Given the description of an element on the screen output the (x, y) to click on. 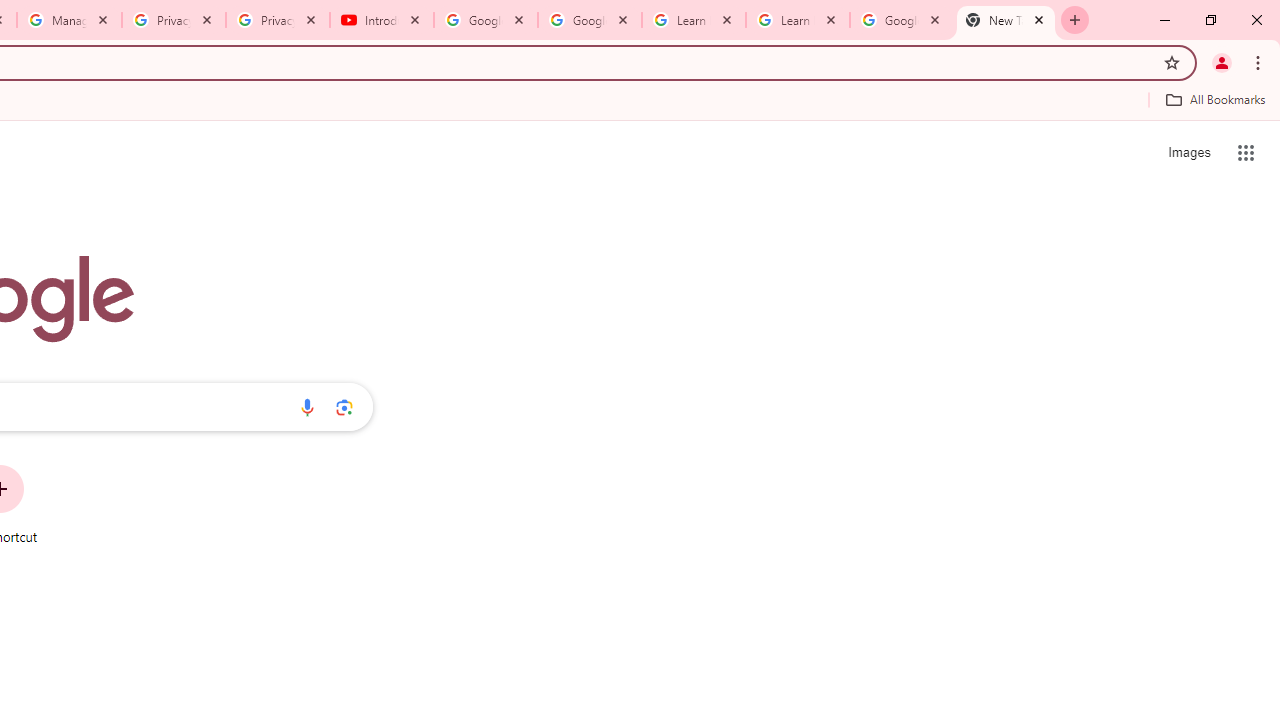
Google Account (901, 20)
Google Account Help (589, 20)
Search by voice (307, 407)
Search by image (344, 407)
Search for Images  (1188, 152)
All Bookmarks (1215, 99)
Introduction | Google Privacy Policy - YouTube (381, 20)
